Given the description of an element on the screen output the (x, y) to click on. 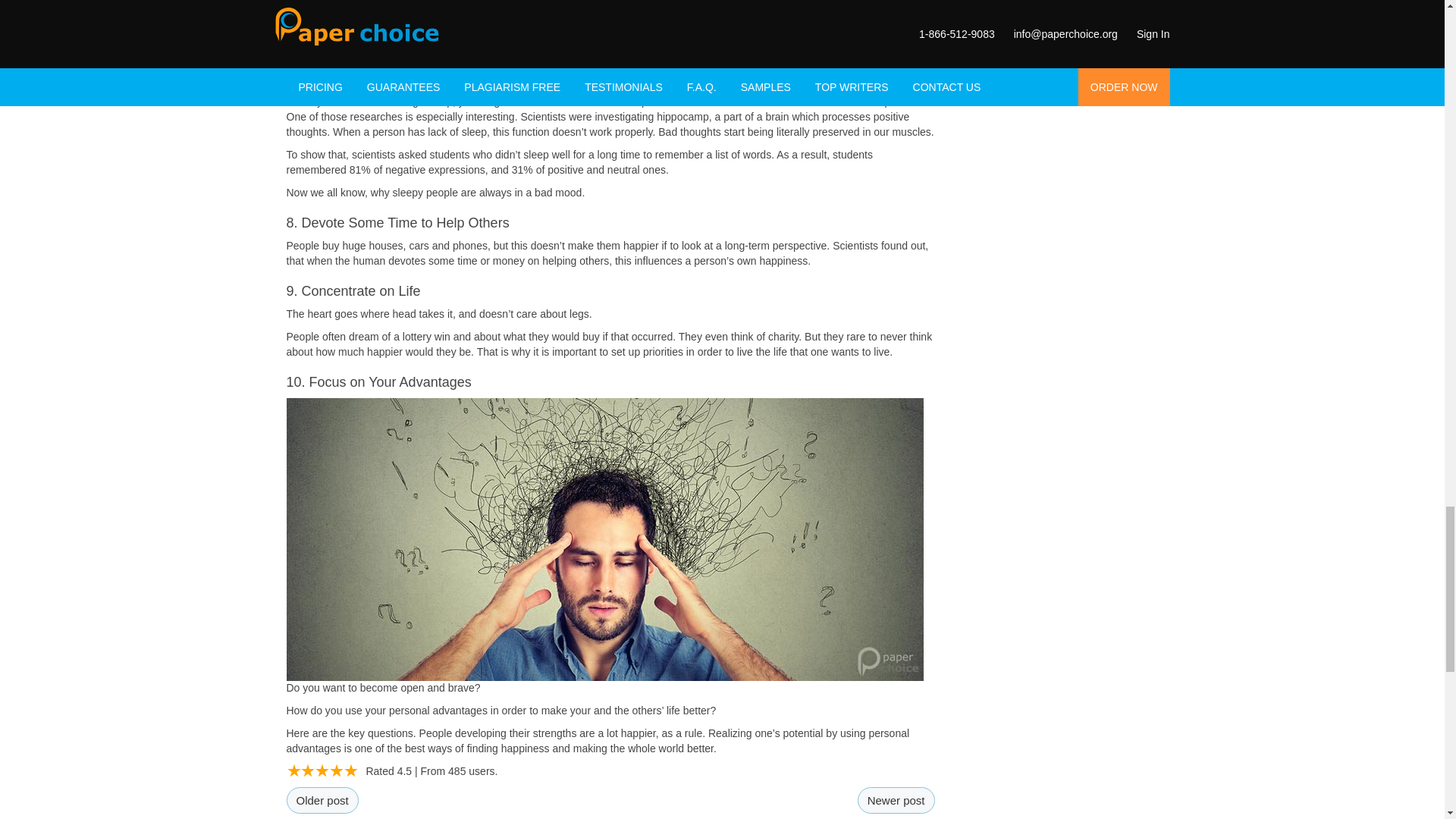
Older post (322, 800)
Happy Sleep (604, 47)
Newer post (895, 800)
